Given the description of an element on the screen output the (x, y) to click on. 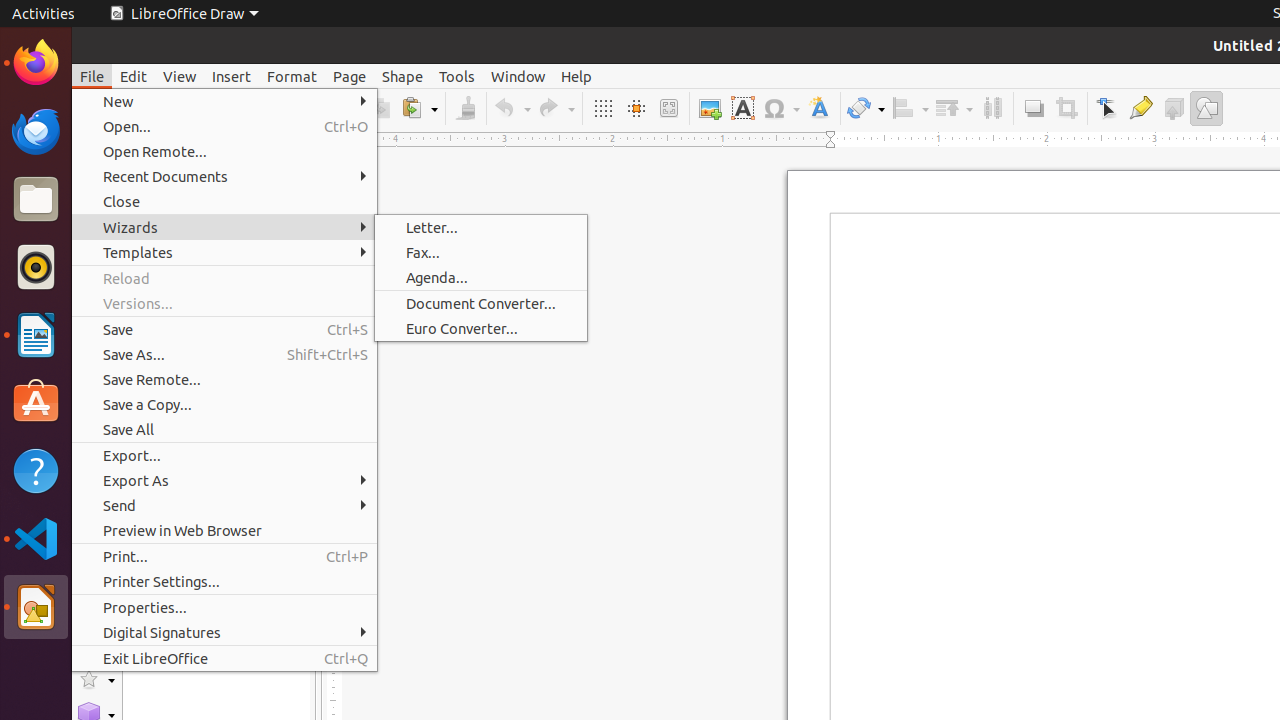
Digital Signatures Element type: menu (224, 632)
Helplines While Moving Element type: toggle-button (635, 108)
Text Box Element type: push-button (742, 108)
Printer Settings... Element type: menu-item (224, 581)
Symbol Element type: push-button (781, 108)
